Given the description of an element on the screen output the (x, y) to click on. 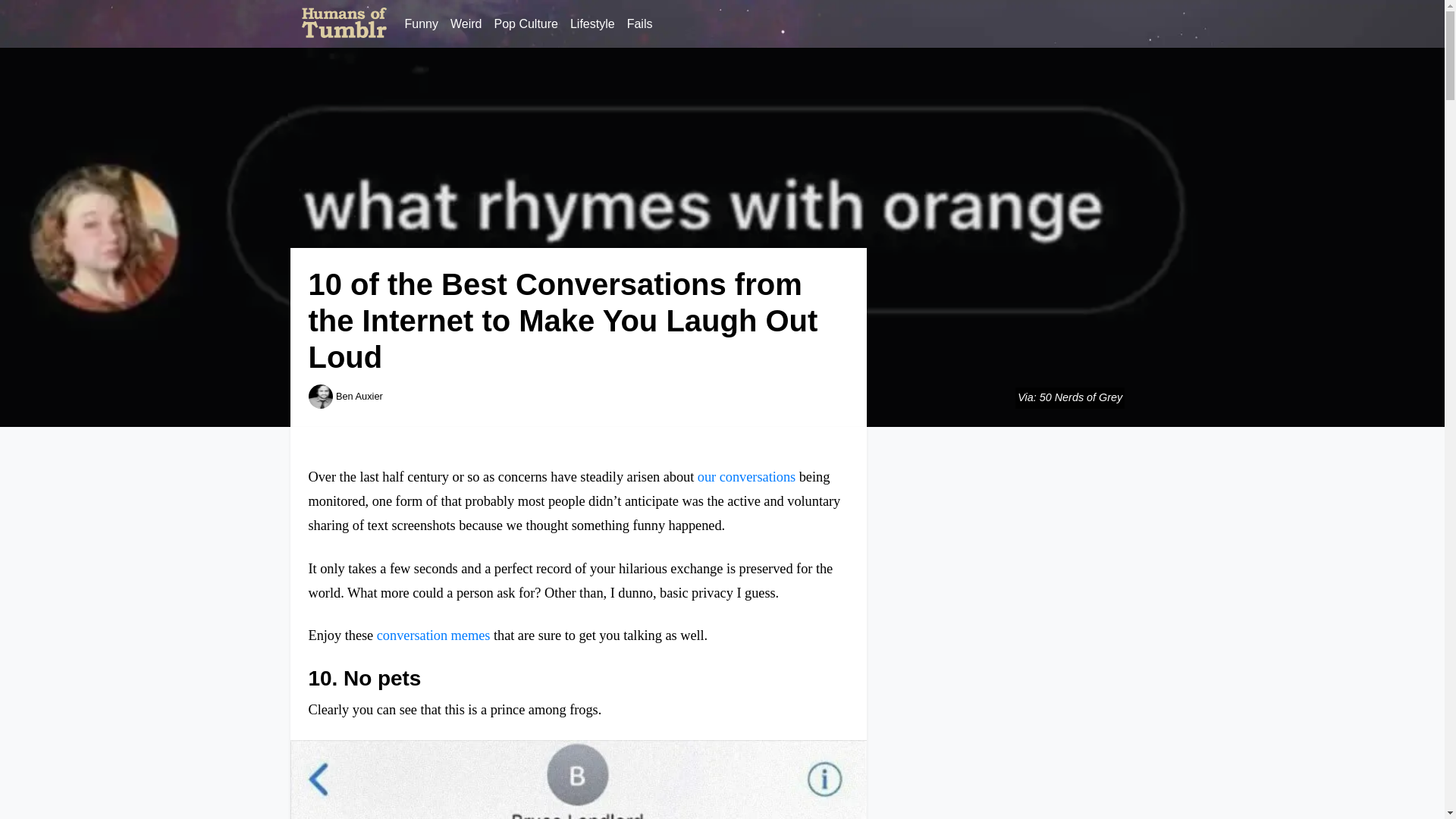
Weird (465, 24)
Funny (421, 24)
Lifestyle (592, 24)
Facebook (1130, 24)
Ben Auxier (359, 396)
Posts by Ben Auxier (359, 396)
conversation memes (433, 635)
50 Nerds of Grey (1080, 397)
Fails (640, 24)
Pop Culture (525, 24)
our conversations (745, 476)
Humans of Tumblr (344, 23)
